Given the description of an element on the screen output the (x, y) to click on. 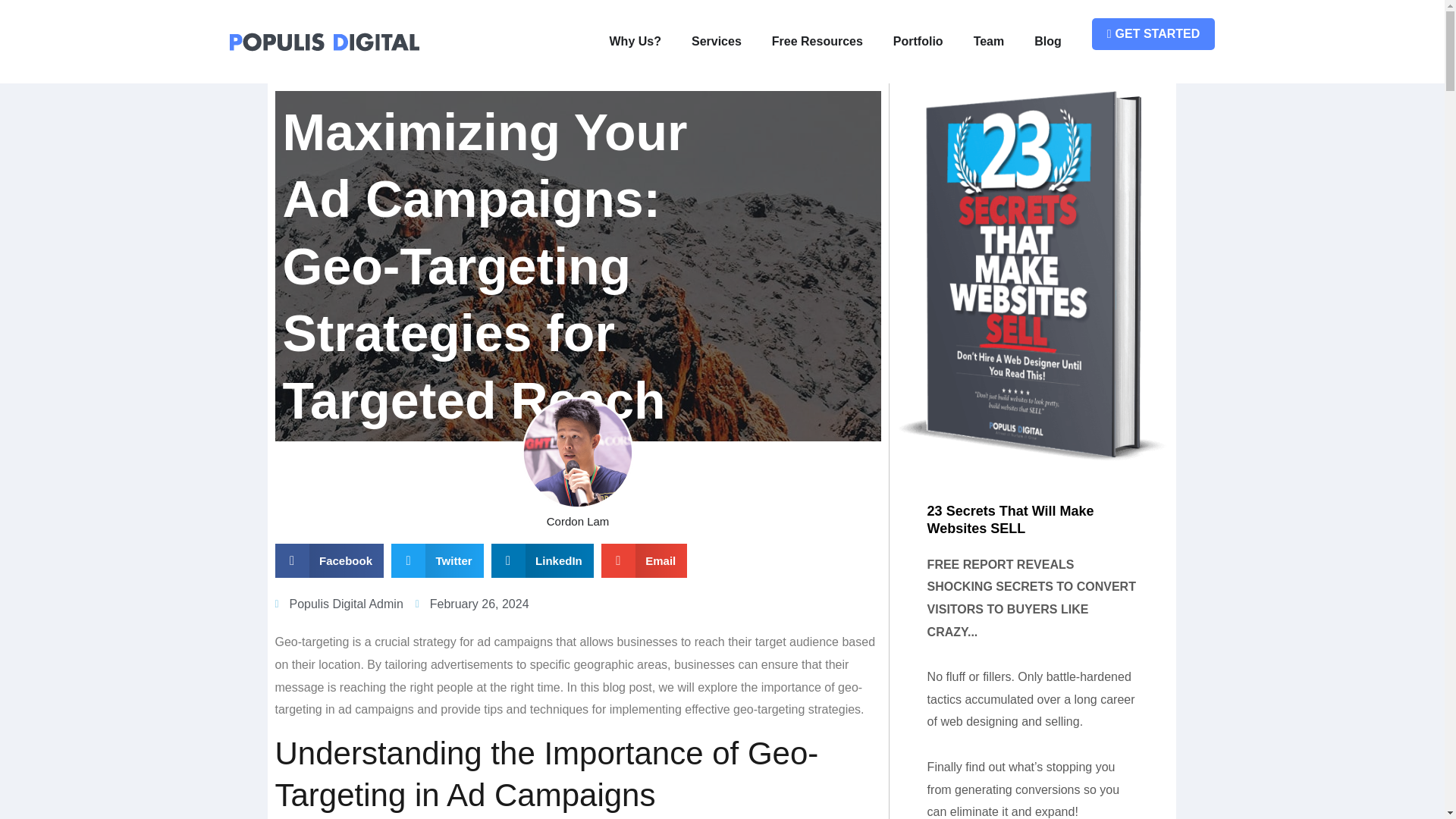
Team (989, 41)
Free Resources (817, 41)
Blog (1048, 41)
Portfolio (917, 41)
Why Us? (635, 41)
Services (717, 41)
